Given the description of an element on the screen output the (x, y) to click on. 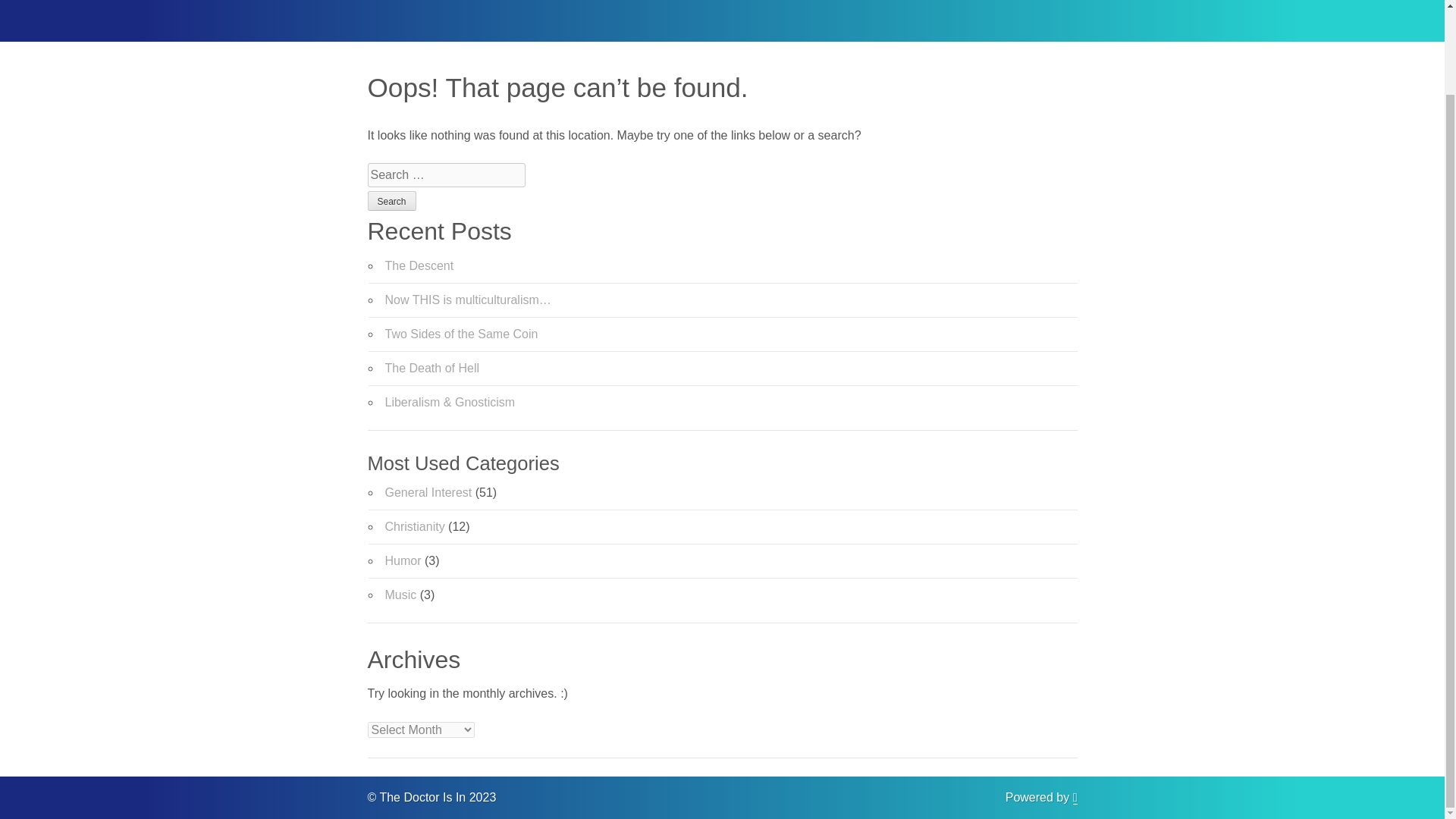
General Interest (428, 492)
Search (390, 200)
Christianity (415, 526)
The Descent (419, 265)
Humor (403, 560)
Search (390, 200)
Search (390, 200)
Two Sides of the Same Coin (461, 333)
Music (400, 594)
The Death of Hell (432, 367)
